Given the description of an element on the screen output the (x, y) to click on. 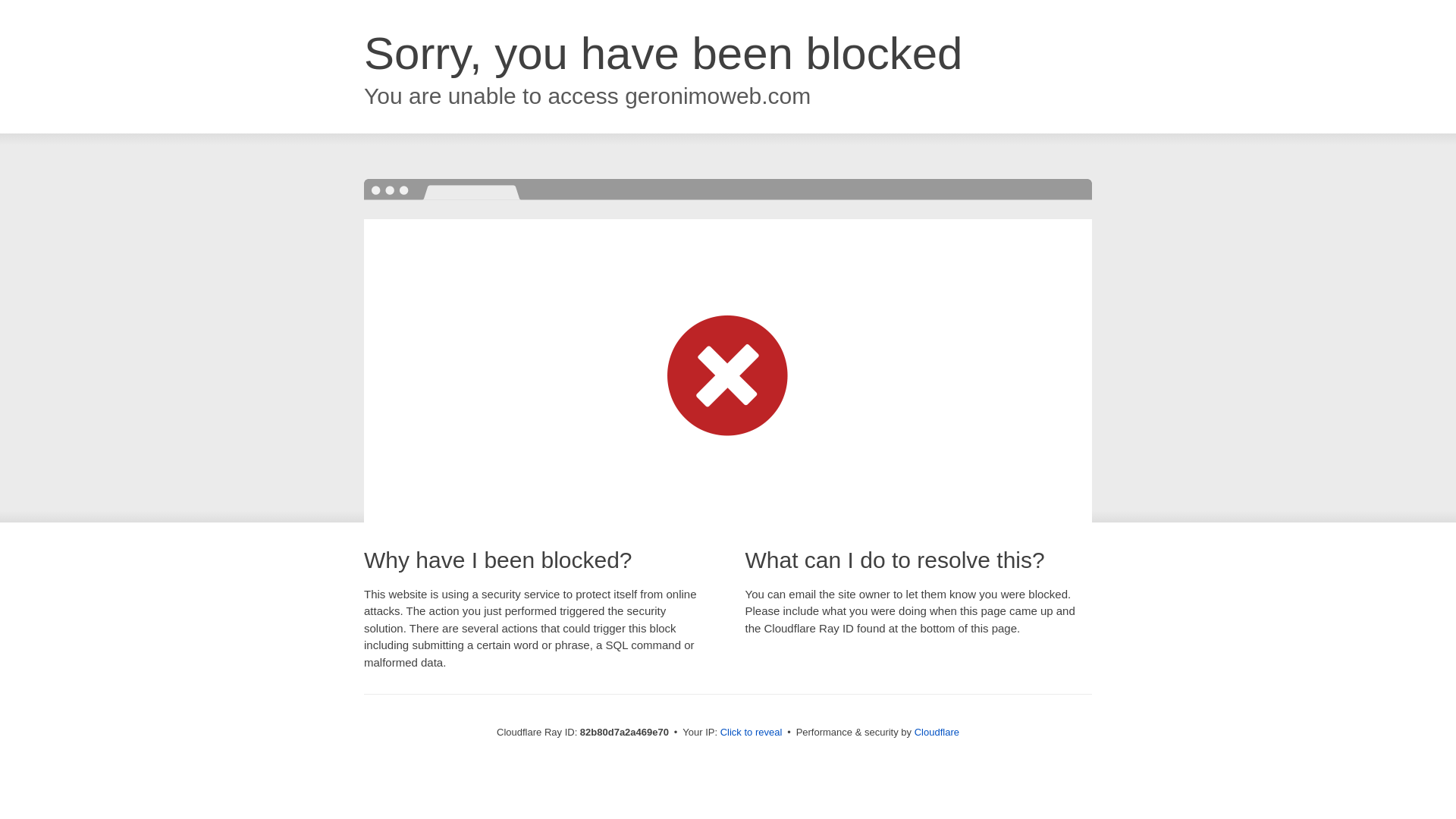
Click to reveal Element type: text (751, 732)
Cloudflare Element type: text (936, 731)
